Given the description of an element on the screen output the (x, y) to click on. 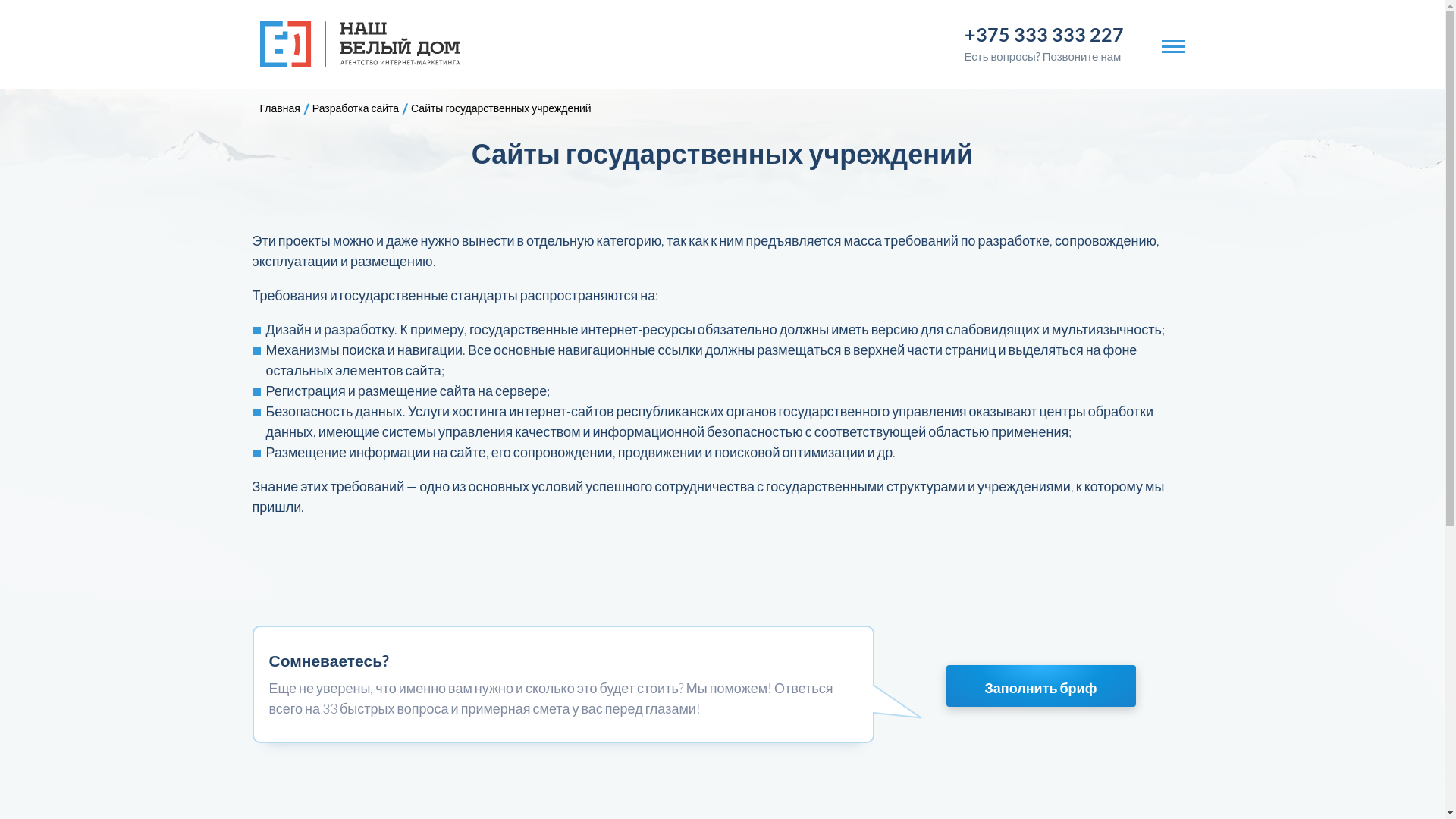
+375 333 333 227 Element type: text (1043, 33)
